Given the description of an element on the screen output the (x, y) to click on. 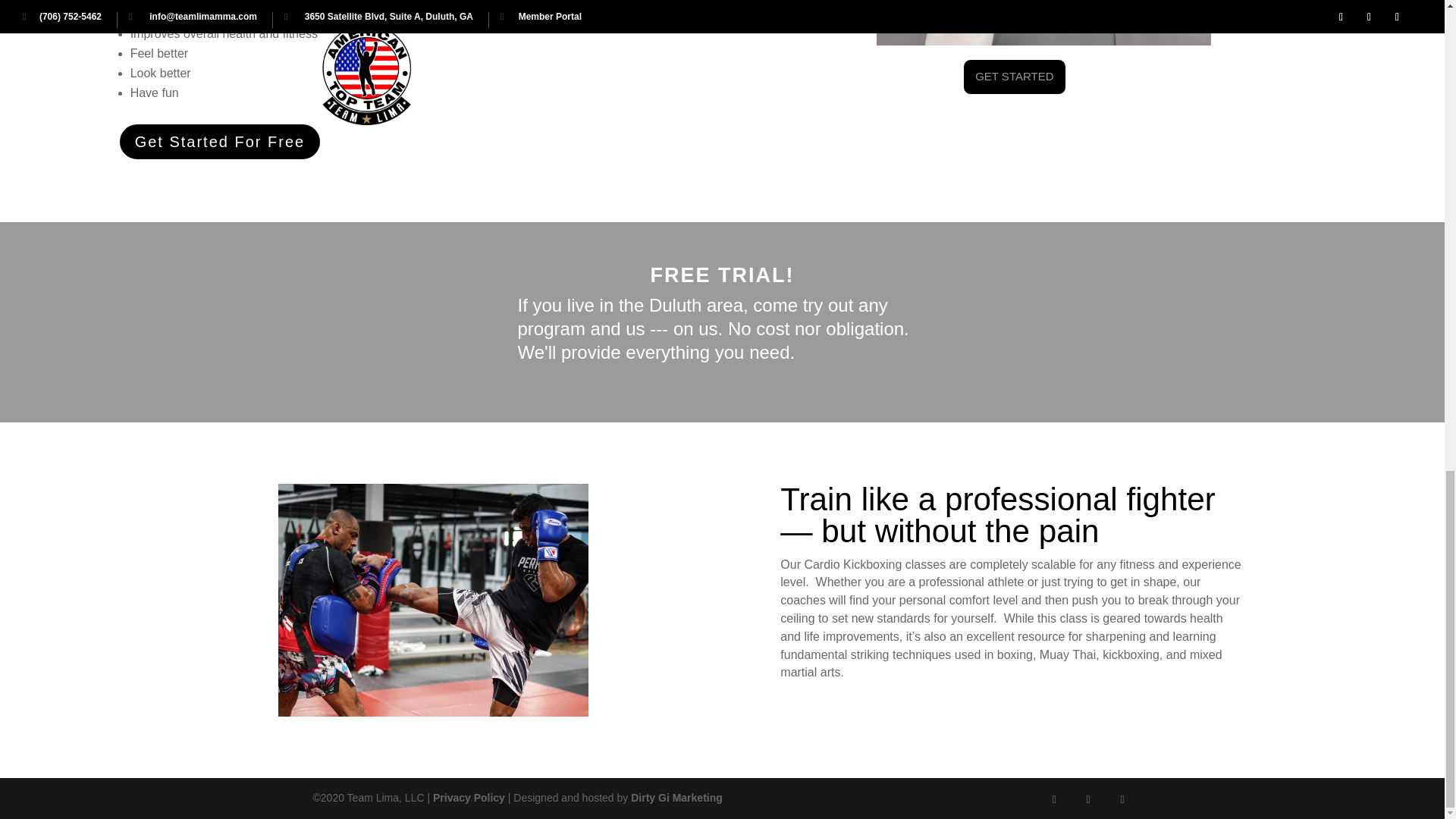
Privacy Policy (468, 797)
cardio kbx (1043, 22)
Dirty Gi Marketing (676, 797)
Get Started For Free (219, 141)
